Given the description of an element on the screen output the (x, y) to click on. 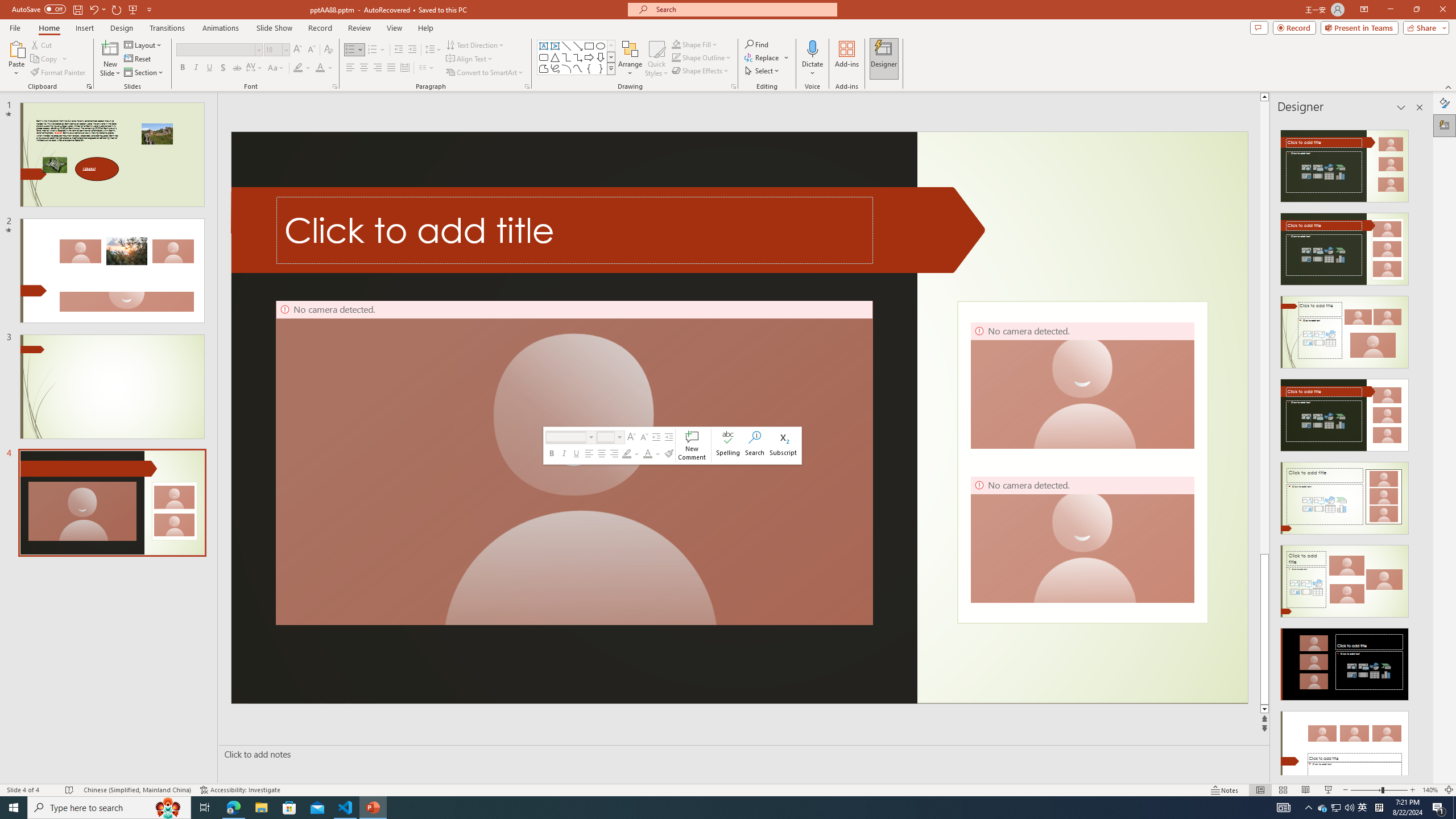
Text Direction (476, 44)
Font Color (647, 453)
Line Arrow (577, 45)
Camera 3, No camera detected. (1082, 385)
Reading View (1305, 790)
Notes  (1225, 790)
New Slide (110, 48)
Font Size (276, 49)
Restore Down (1416, 9)
Help (425, 28)
Oval (600, 45)
Customize Quick Access Toolbar (149, 9)
Insert (83, 28)
Font Color Red (320, 67)
